Given the description of an element on the screen output the (x, y) to click on. 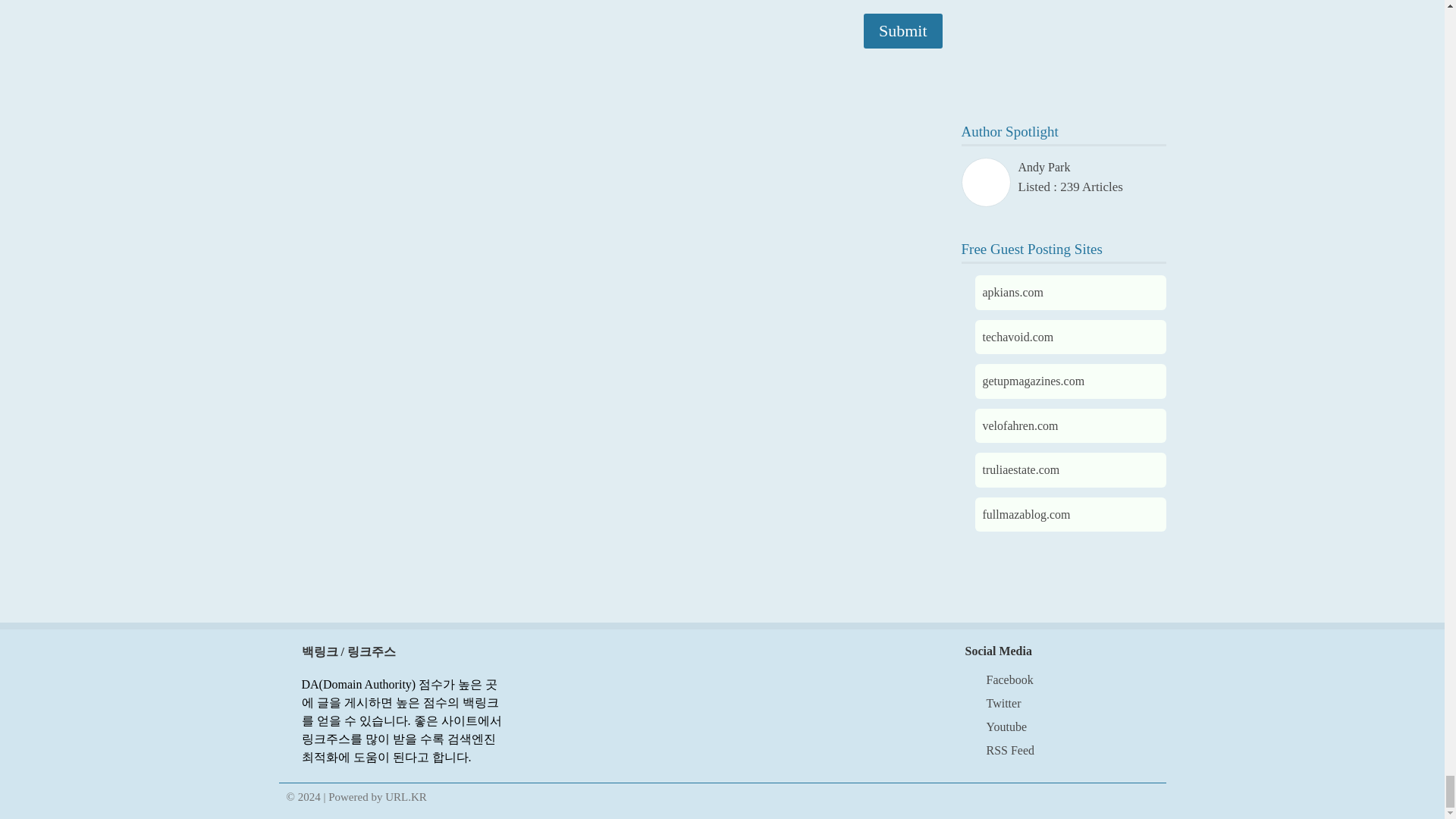
Submit (902, 30)
